Given the description of an element on the screen output the (x, y) to click on. 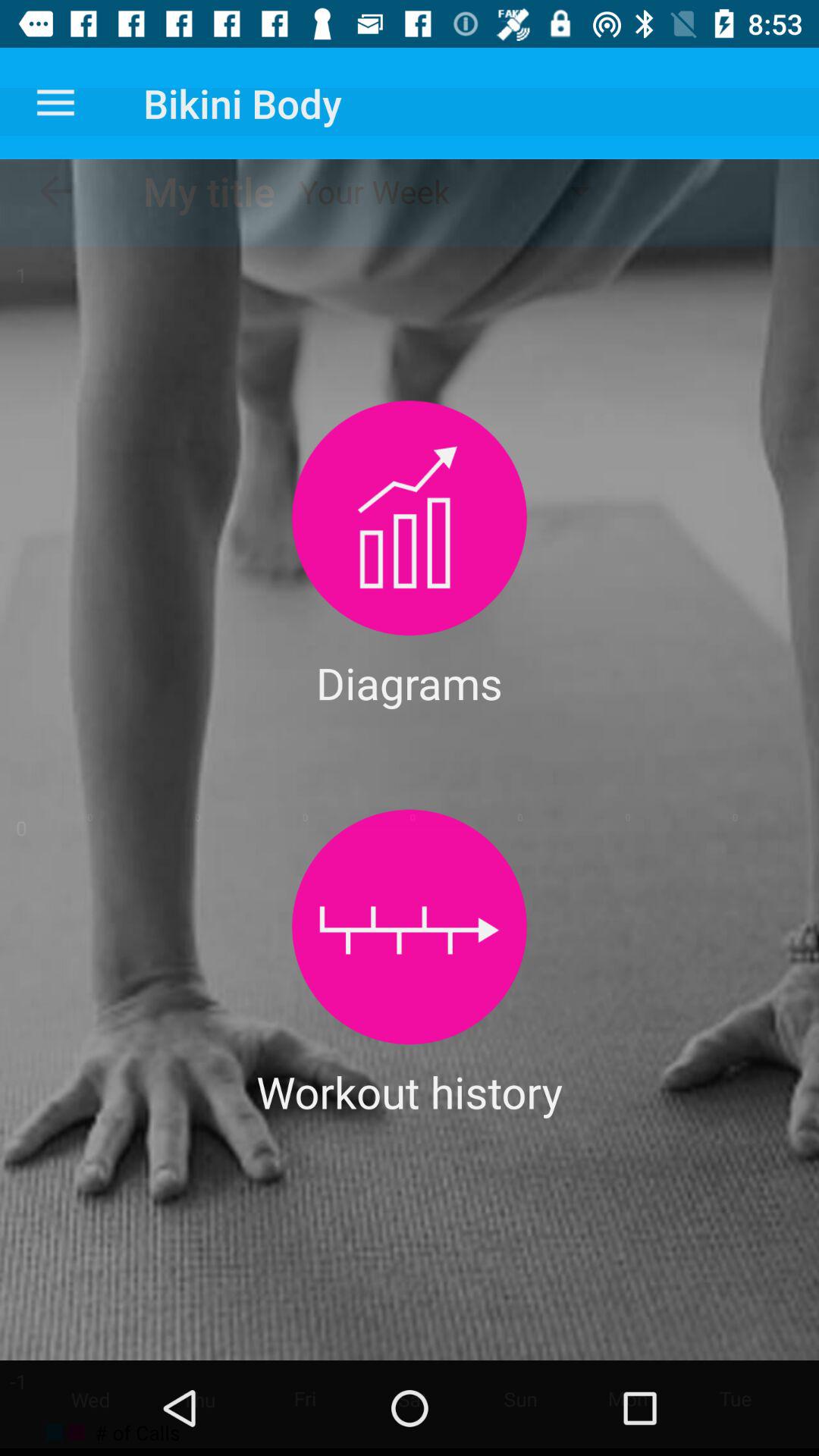
good (409, 926)
